Given the description of an element on the screen output the (x, y) to click on. 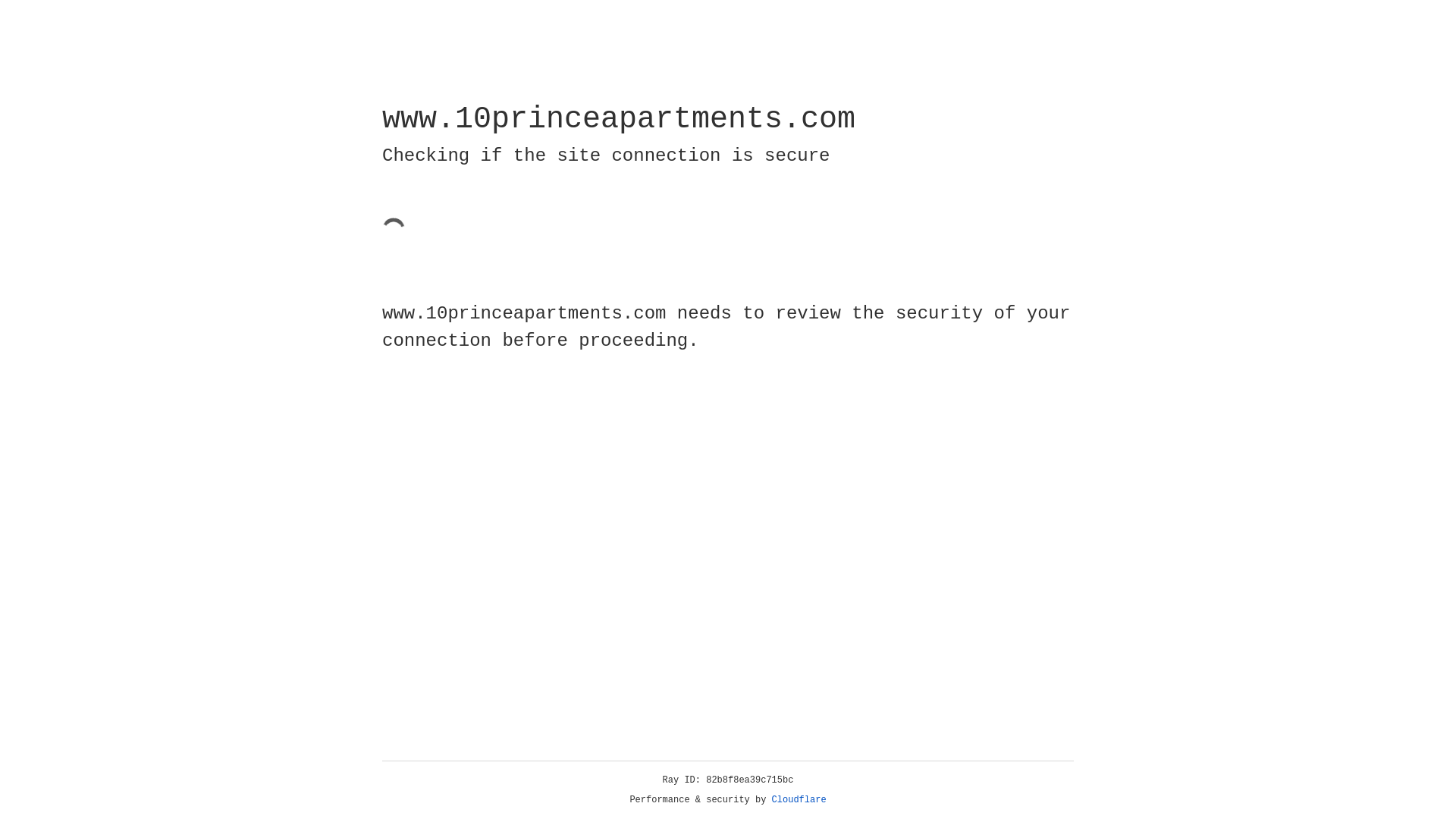
Cloudflare Element type: text (798, 799)
